Given the description of an element on the screen output the (x, y) to click on. 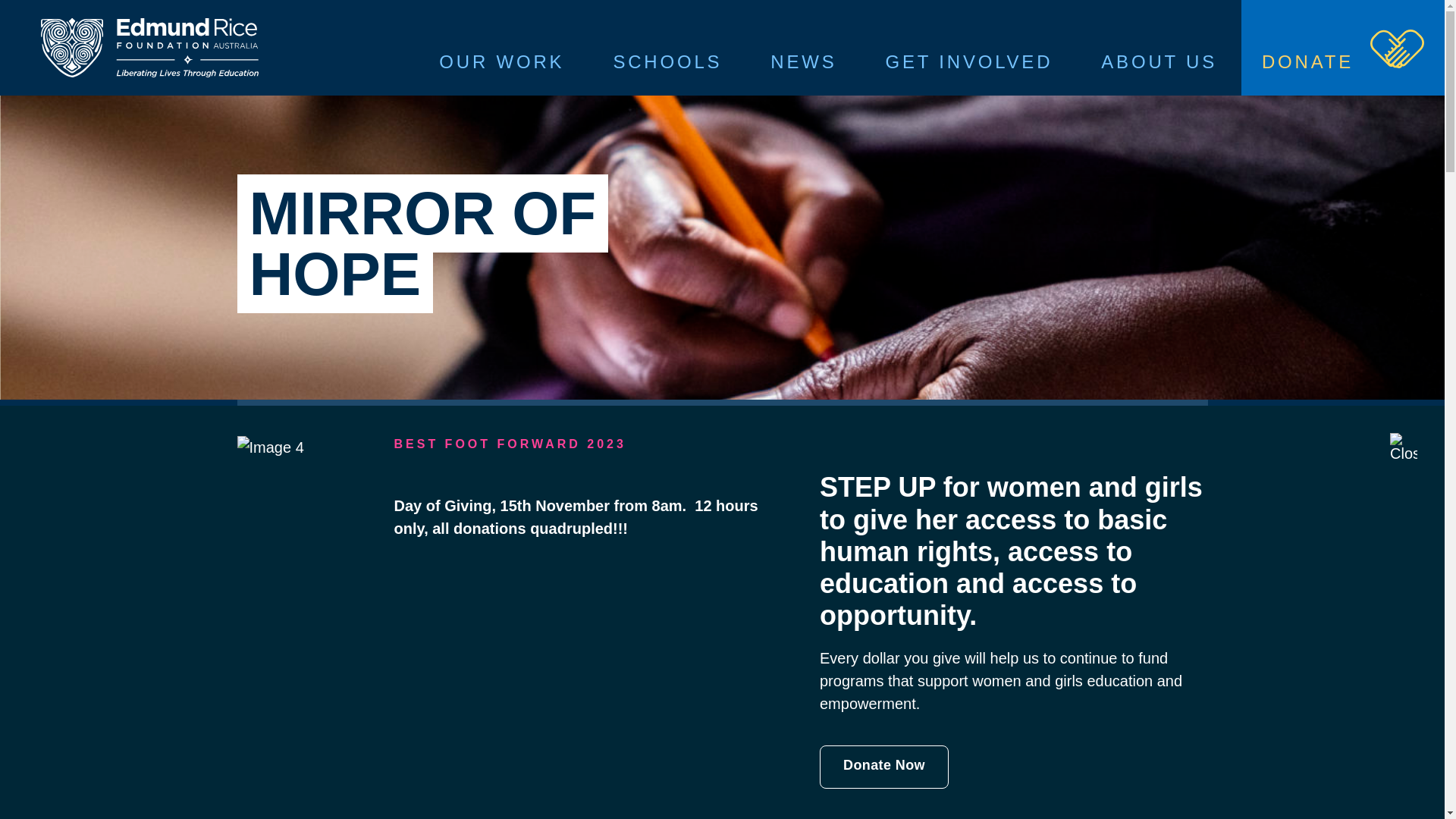
Donate Now Element type: text (883, 766)
GET INVOLVED Element type: text (969, 47)
DONATE Element type: text (1342, 47)
SCHOOLS Element type: text (667, 47)
OUR WORK Element type: text (501, 47)
NEWS Element type: text (803, 47)
ABOUT US Element type: text (1158, 47)
